Given the description of an element on the screen output the (x, y) to click on. 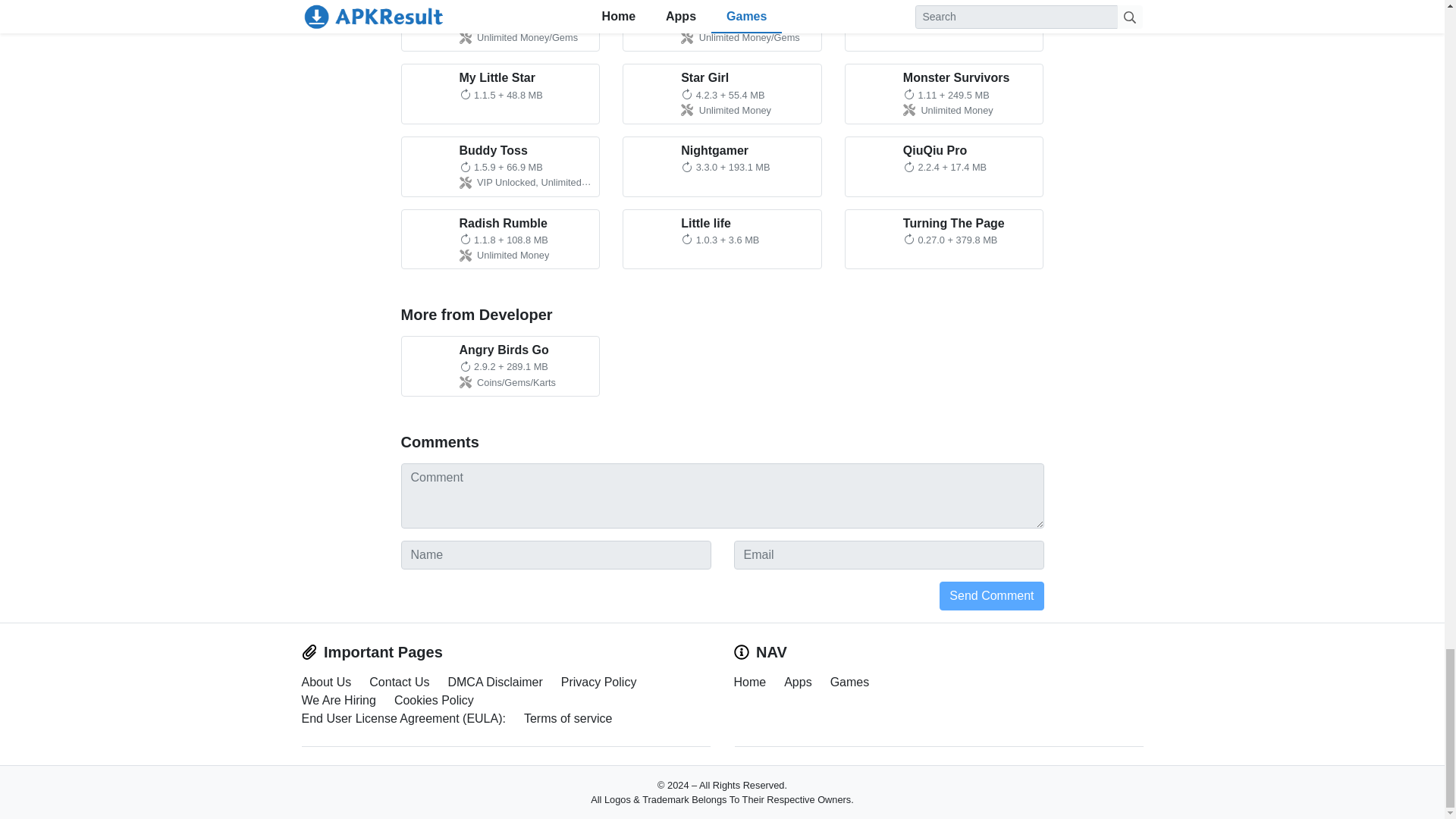
Array (722, 93)
Array (943, 26)
Array (499, 93)
Array (499, 166)
Array (722, 239)
Array (943, 166)
Array (499, 239)
Array (943, 239)
Array (722, 166)
Array (499, 26)
